Given the description of an element on the screen output the (x, y) to click on. 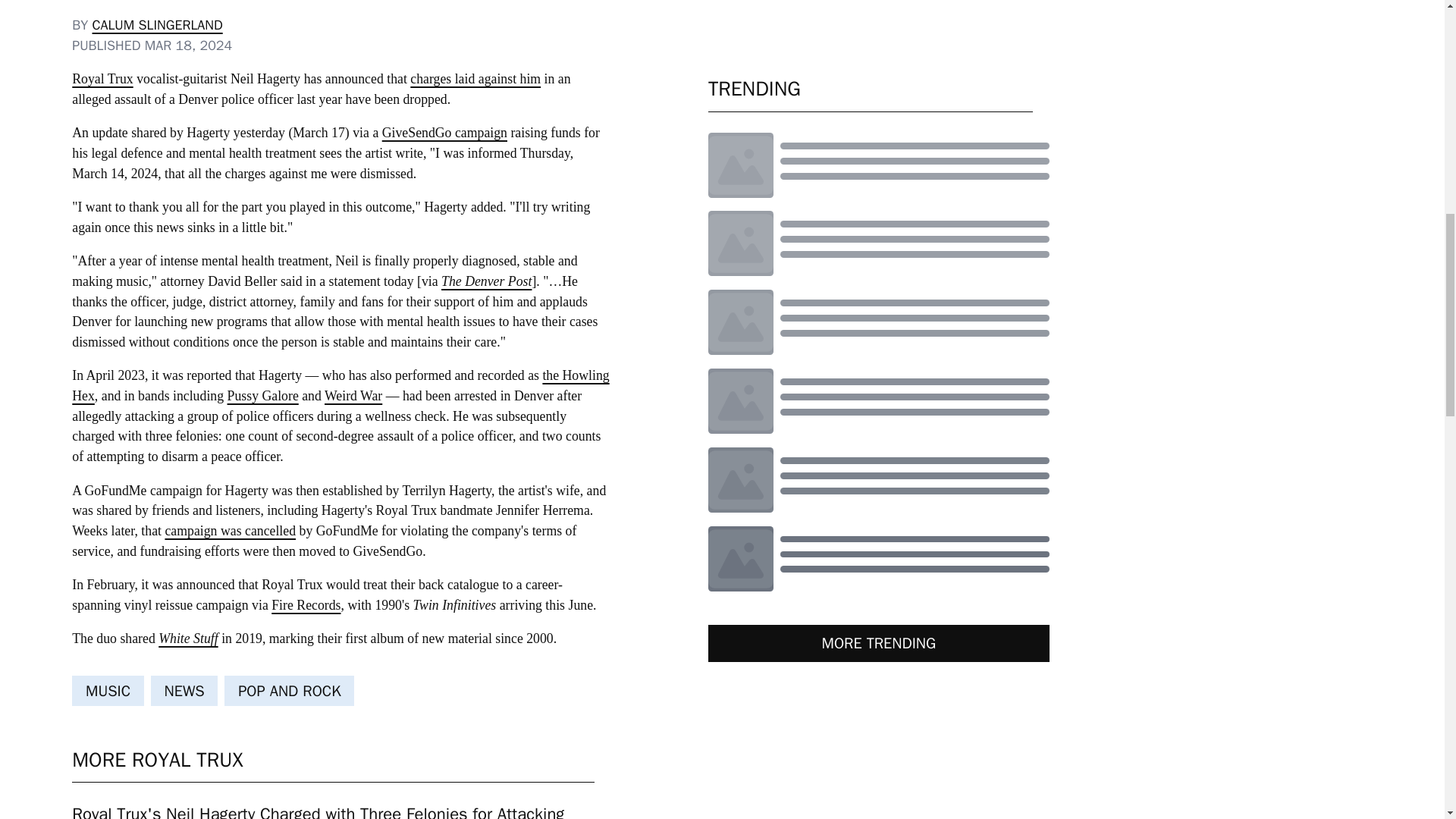
Pussy Galore (262, 395)
POP AND ROCK (288, 690)
Weird War (352, 395)
The Denver Post (486, 281)
the Howling Hex (339, 385)
MORE TRENDING (878, 642)
CALUM SLINGERLAND (157, 24)
NEWS (184, 690)
MUSIC (107, 690)
